Given the description of an element on the screen output the (x, y) to click on. 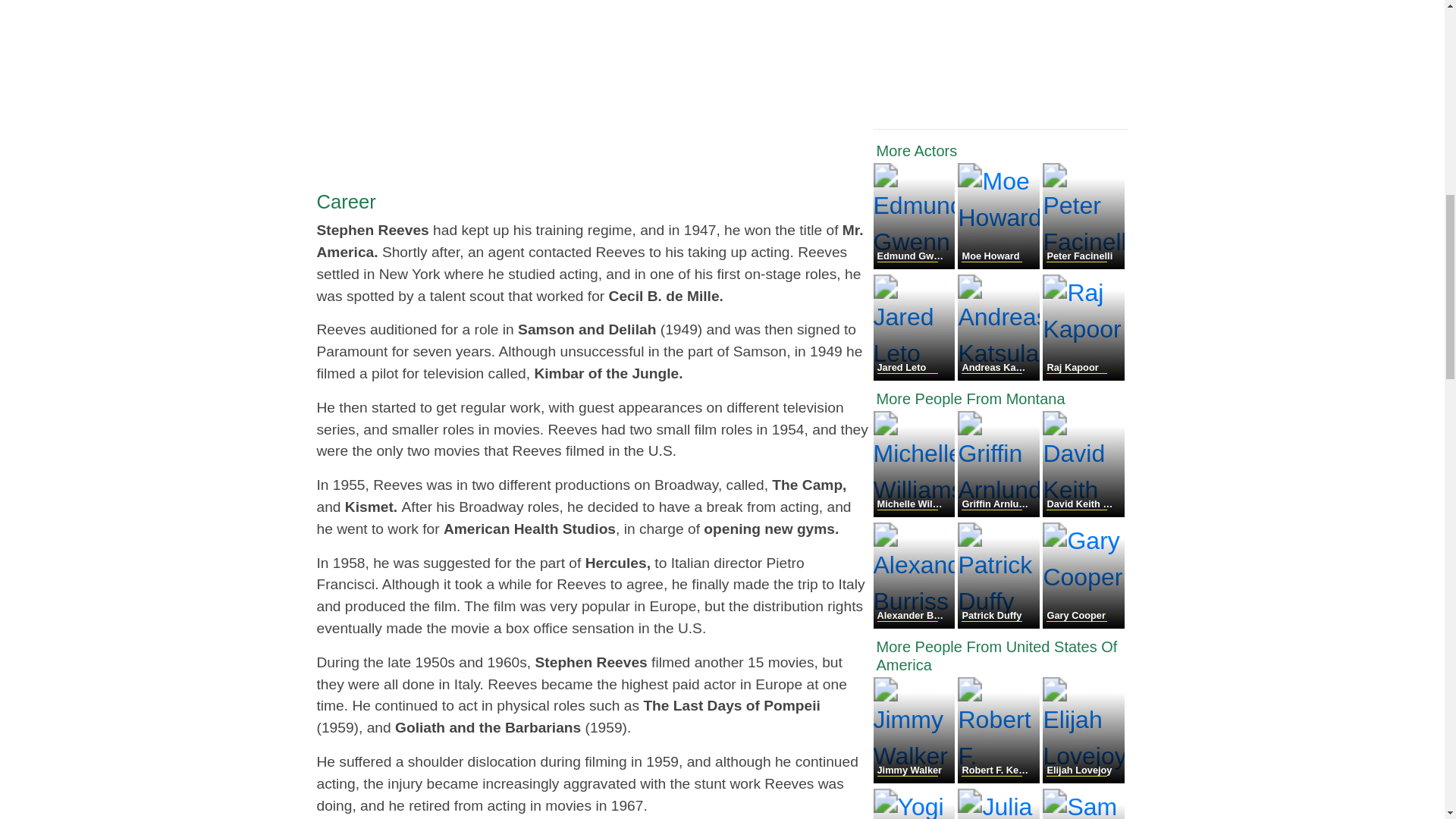
Edmund Gwenn (915, 264)
Michelle Williams (915, 512)
Patrick Duffy (1000, 624)
Jared Leto (915, 376)
Raj Kapoor (1083, 376)
Elijah Lovejoy (1083, 779)
Andreas Katsulas (1000, 376)
Robert F. Kennedy (1000, 779)
Gary Cooper (1083, 624)
Griffin Arnlund (1000, 512)
